Given the description of an element on the screen output the (x, y) to click on. 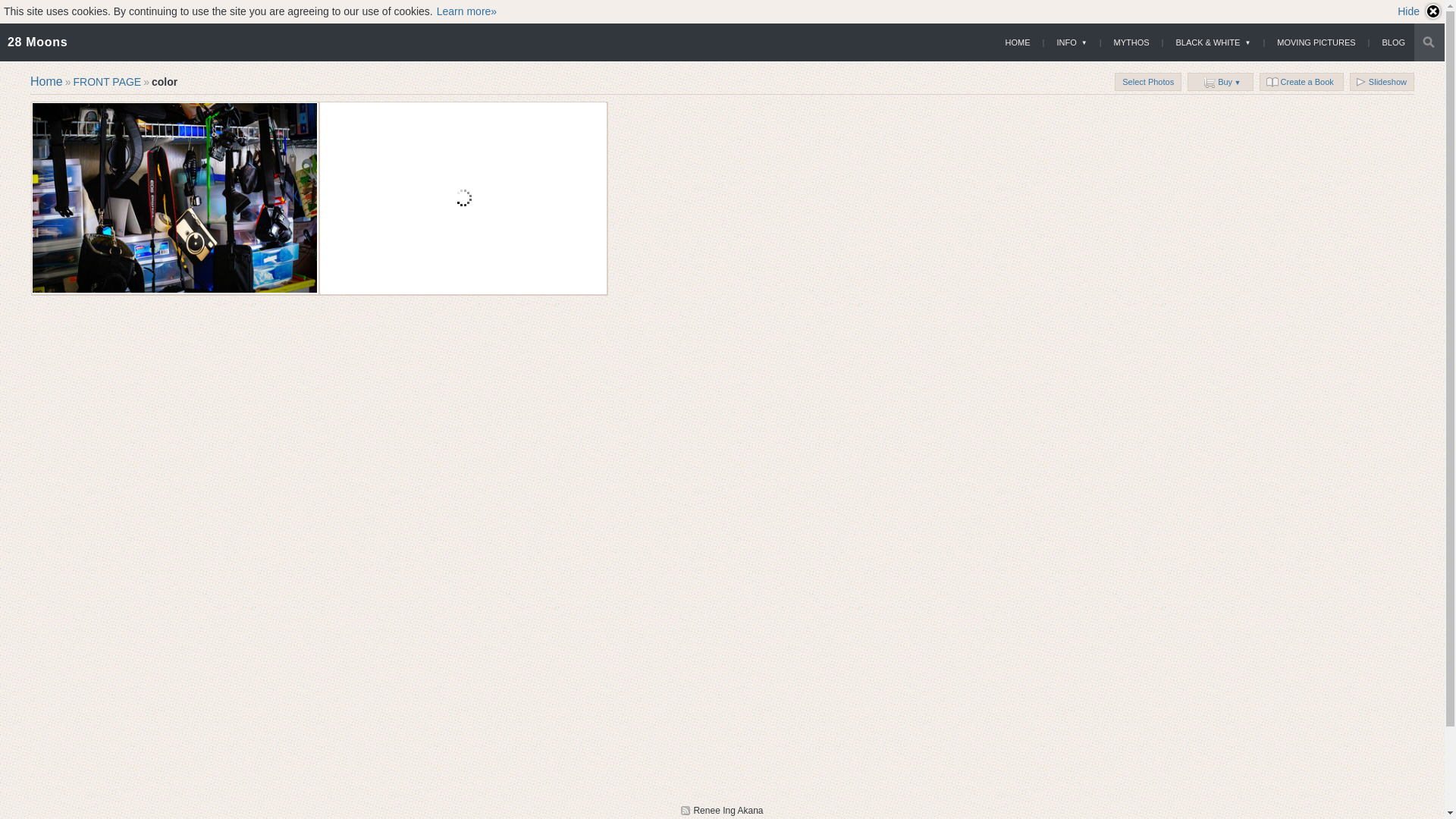
FRONT PAGE Element type: text (106, 81)
MOVING PICTURES Element type: text (1315, 42)
Home Element type: text (46, 81)
MYTHOS Element type: text (1131, 42)
BLOG Element type: text (1393, 42)
Hide Element type: text (1419, 11)
HOME Element type: text (1017, 42)
28 Moons Element type: text (37, 42)
